Given the description of an element on the screen output the (x, y) to click on. 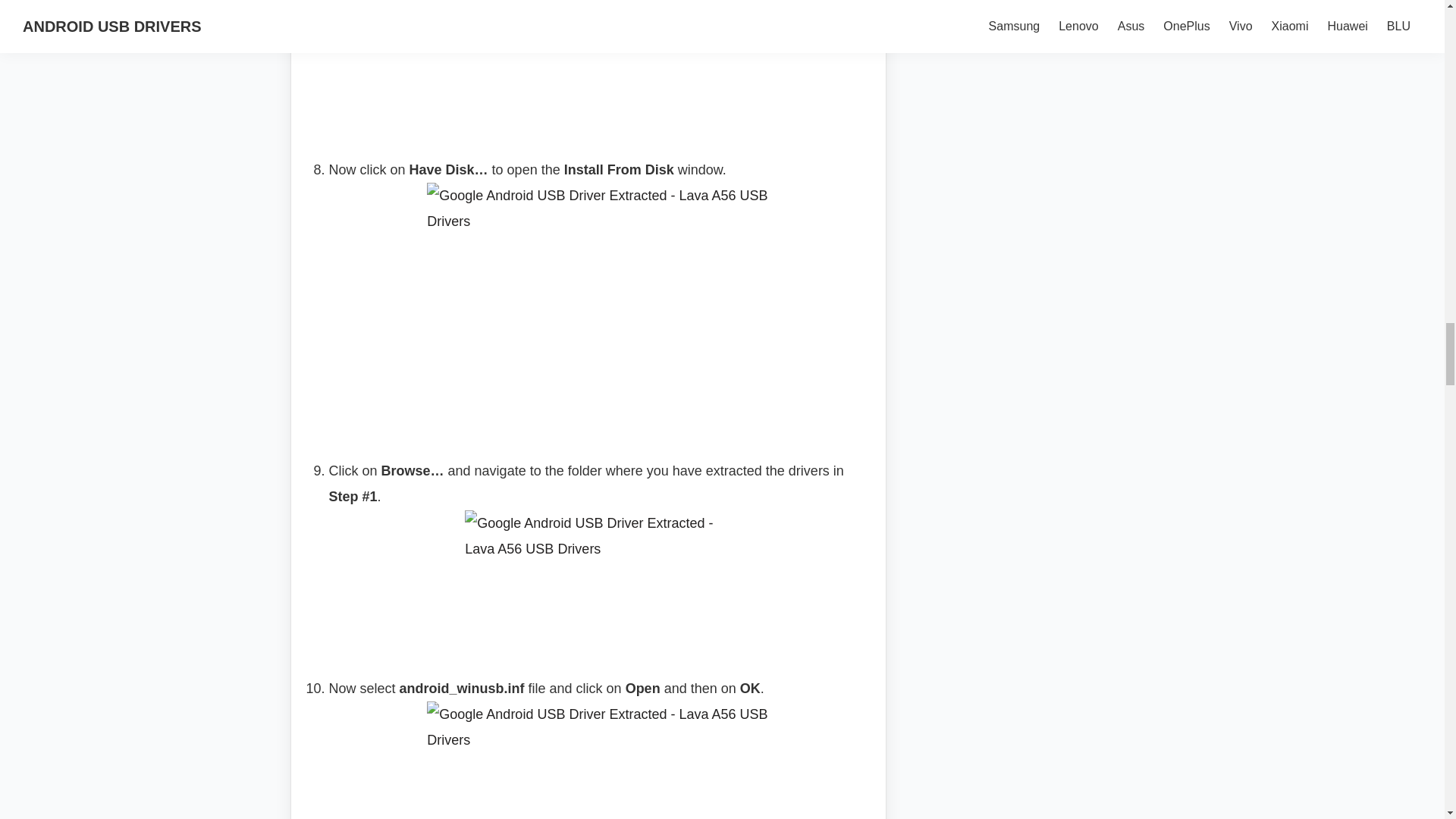
Google Android USB Driver Extracted - Lava A56 USB Drivers (597, 760)
Google Android USB Driver Extracted - Lava A56 USB Drivers (597, 308)
Google Android USB Driver Extracted - Lava A56 USB Drivers (597, 67)
Google Android USB Driver Extracted - Lava A56 USB Drivers (597, 581)
